Given the description of an element on the screen output the (x, y) to click on. 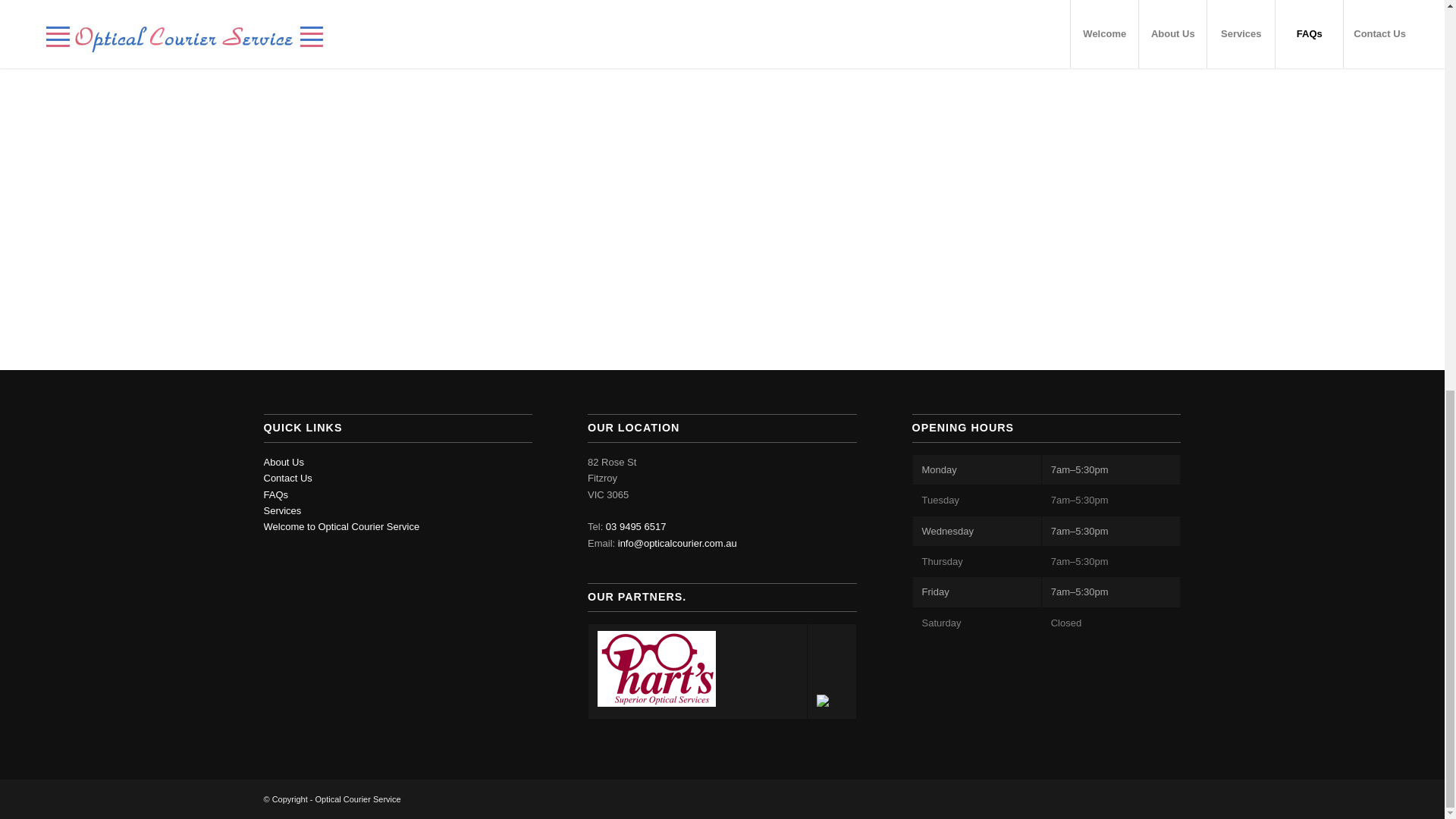
Services (282, 510)
Contact Us (288, 478)
FAQs (275, 494)
About Us (283, 461)
03 9495 6517 (635, 526)
Welcome to Optical Courier Service (341, 526)
